Given the description of an element on the screen output the (x, y) to click on. 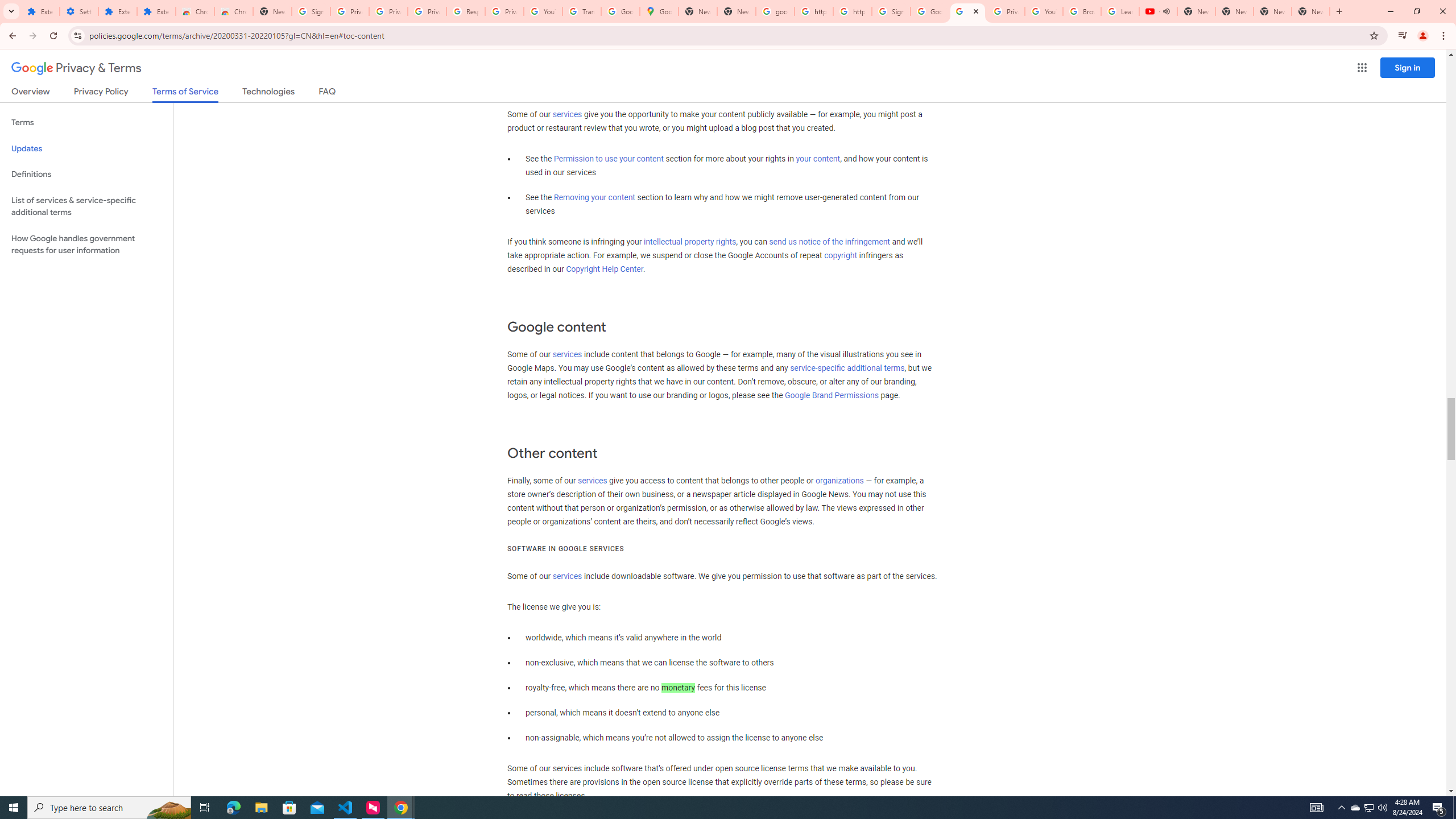
intellectual property rights (689, 242)
copyright (840, 255)
Google Brand Permissions (831, 395)
